Given the description of an element on the screen output the (x, y) to click on. 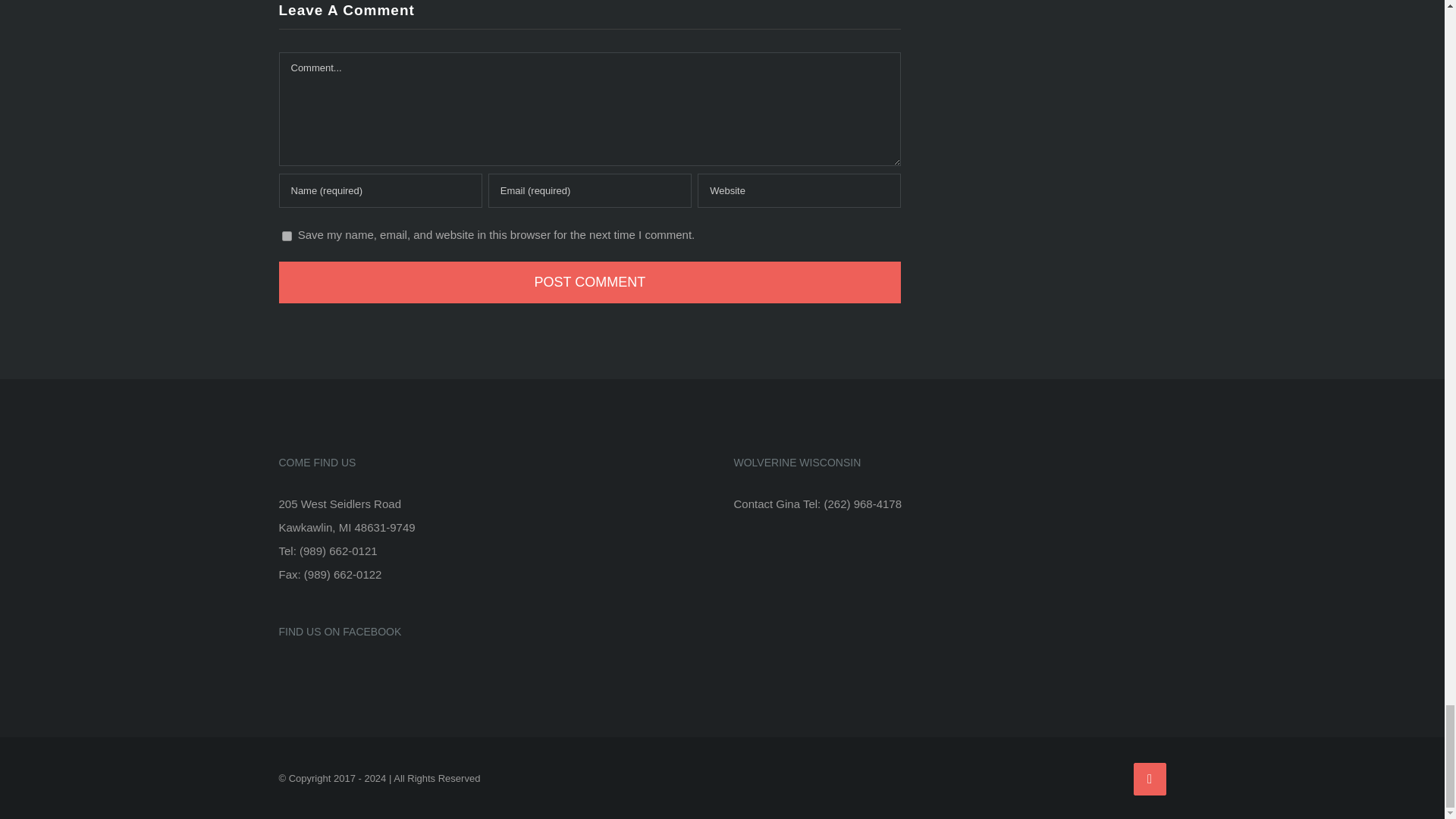
Post Comment (590, 282)
yes (287, 235)
Facebook (1149, 778)
